Given the description of an element on the screen output the (x, y) to click on. 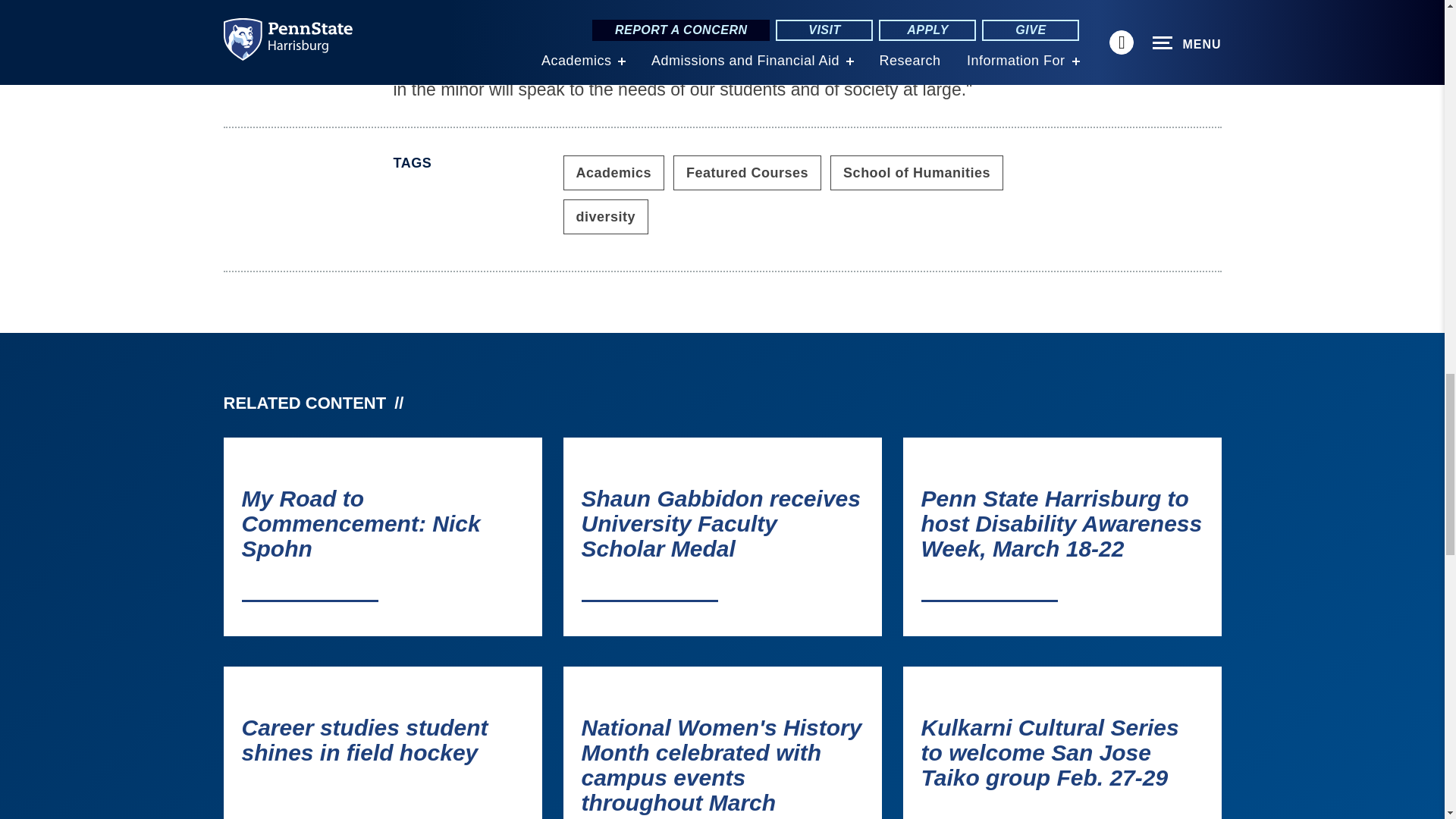
Content tagged with School of Humanities (916, 172)
Content tagged with Featured Courses (746, 172)
Content tagged with diversity (604, 216)
Content tagged with Academics (612, 172)
